Given the description of an element on the screen output the (x, y) to click on. 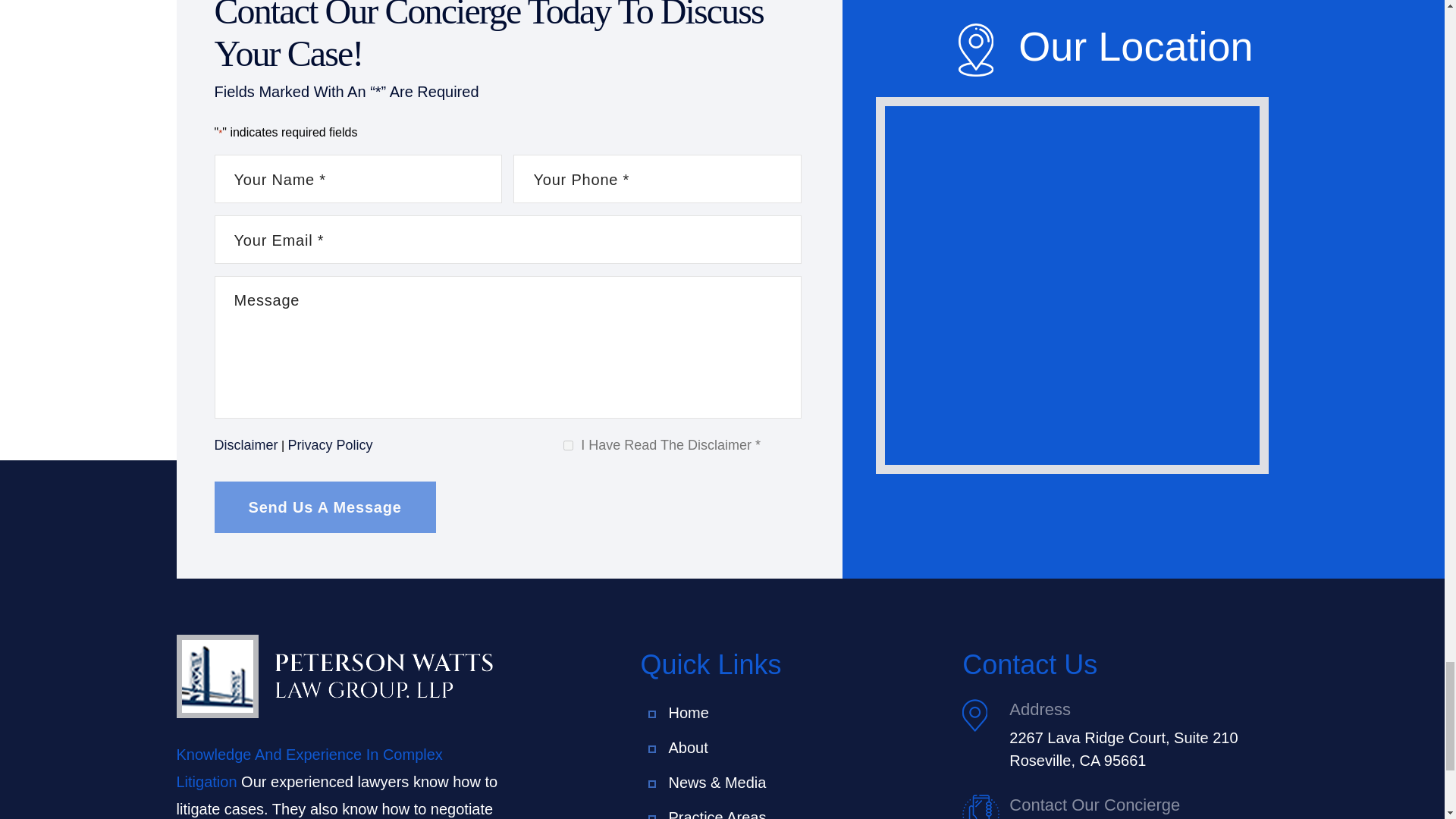
Send Us A Message (324, 507)
